Given the description of an element on the screen output the (x, y) to click on. 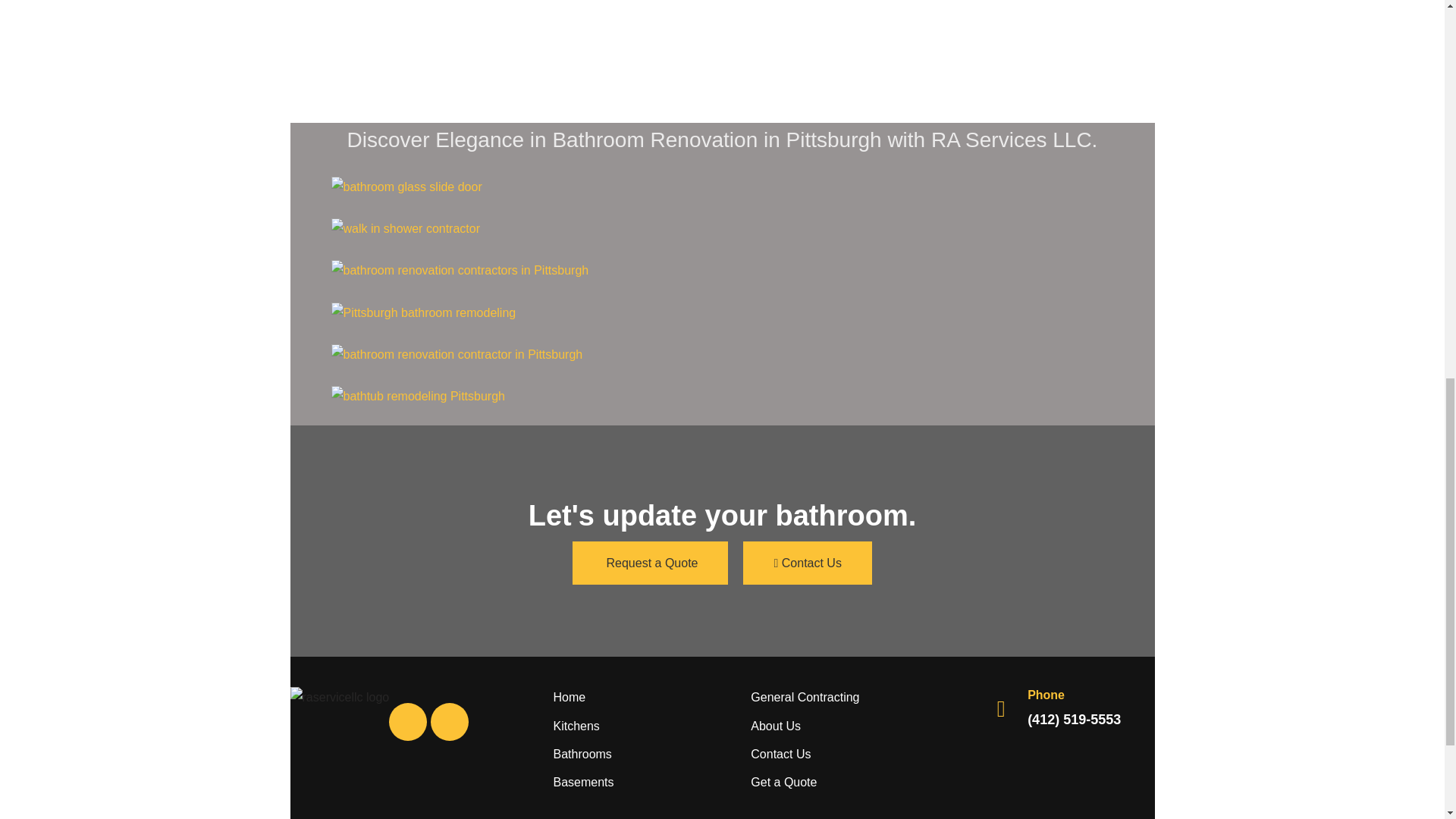
Request a Quote (650, 562)
